Given the description of an element on the screen output the (x, y) to click on. 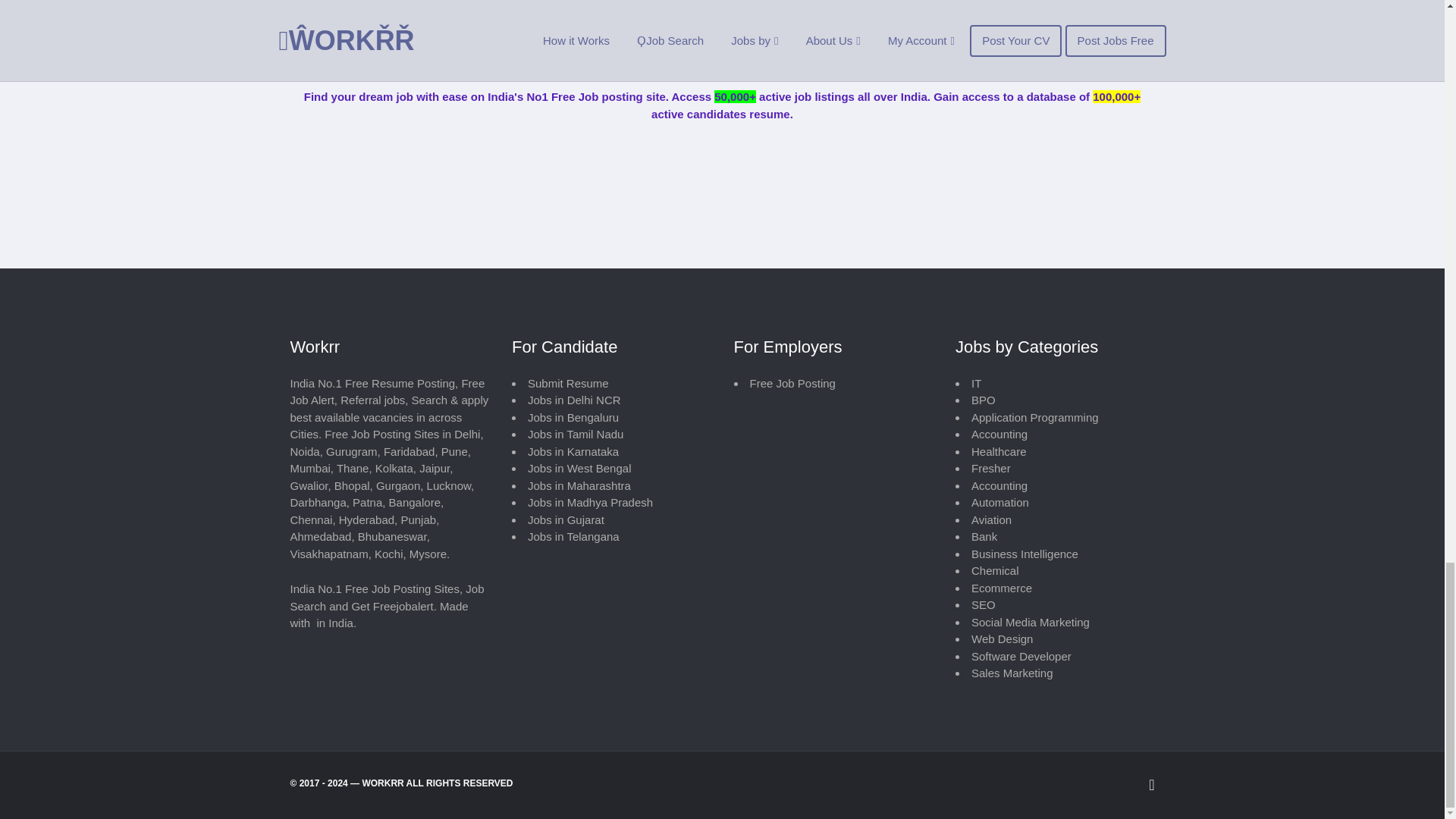
Submit Resume (567, 382)
Jobs in Delhi NCR (574, 399)
